Given the description of an element on the screen output the (x, y) to click on. 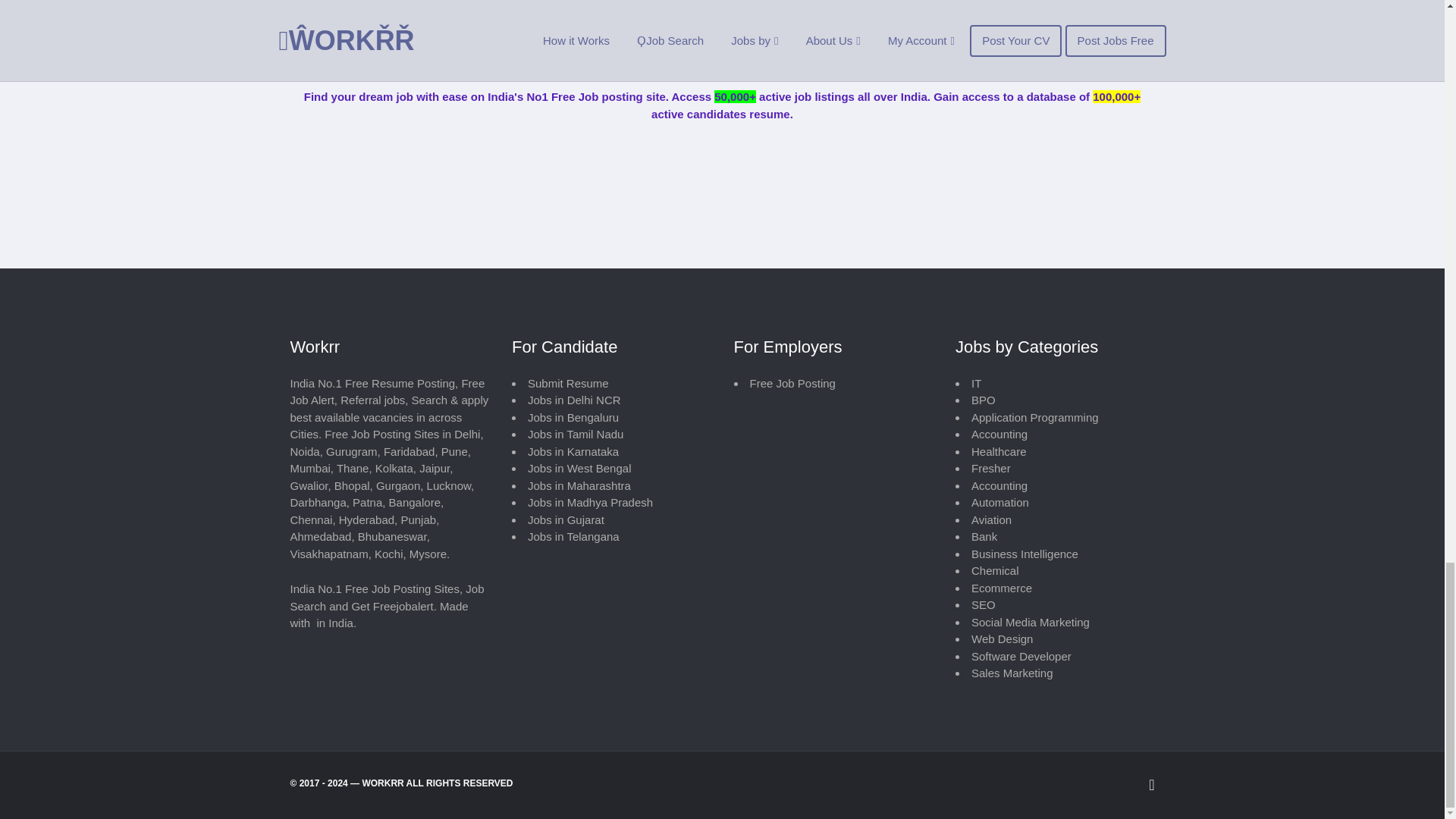
Submit Resume (567, 382)
Jobs in Delhi NCR (574, 399)
